Given the description of an element on the screen output the (x, y) to click on. 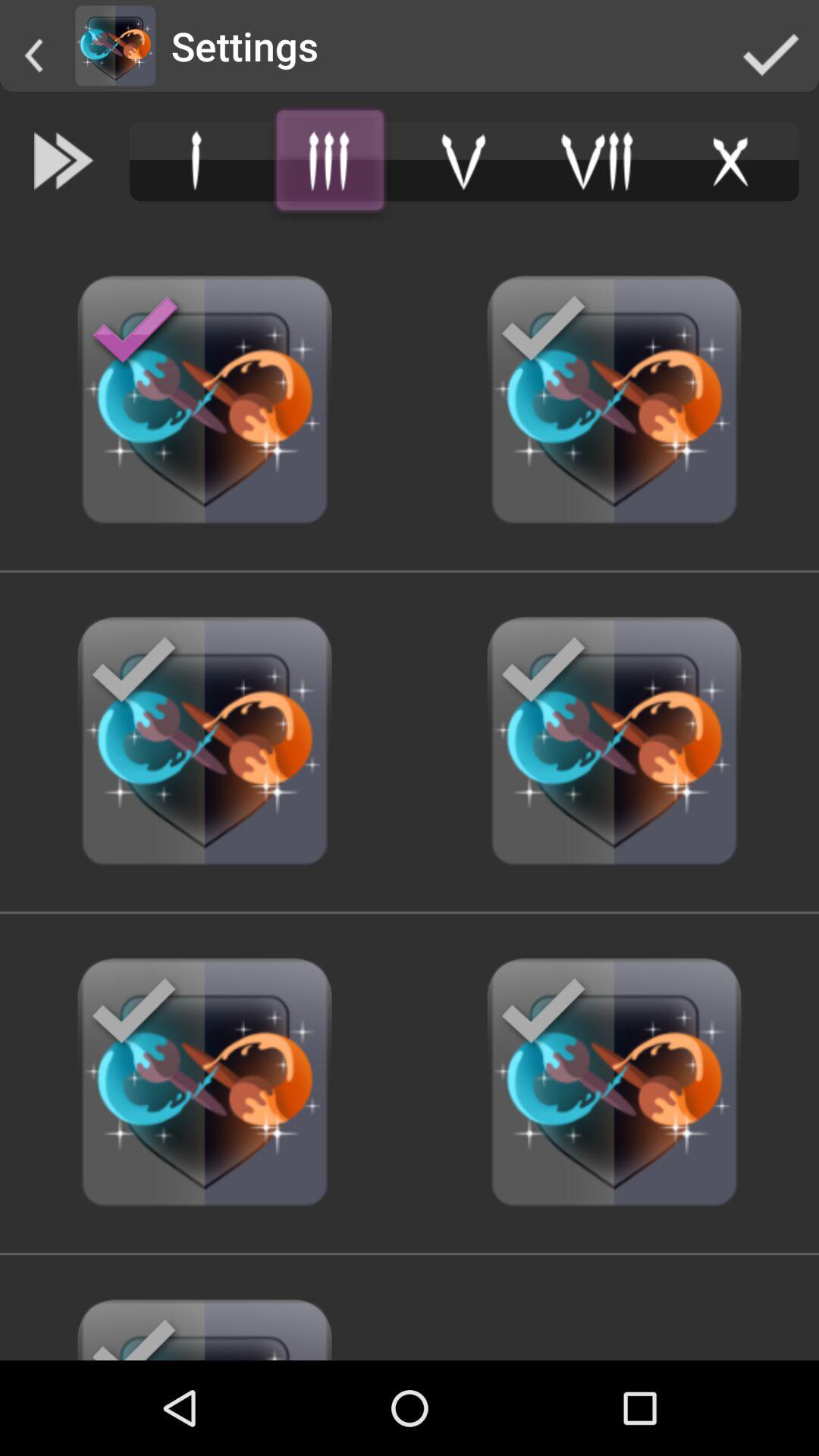
move forward (63, 161)
